Given the description of an element on the screen output the (x, y) to click on. 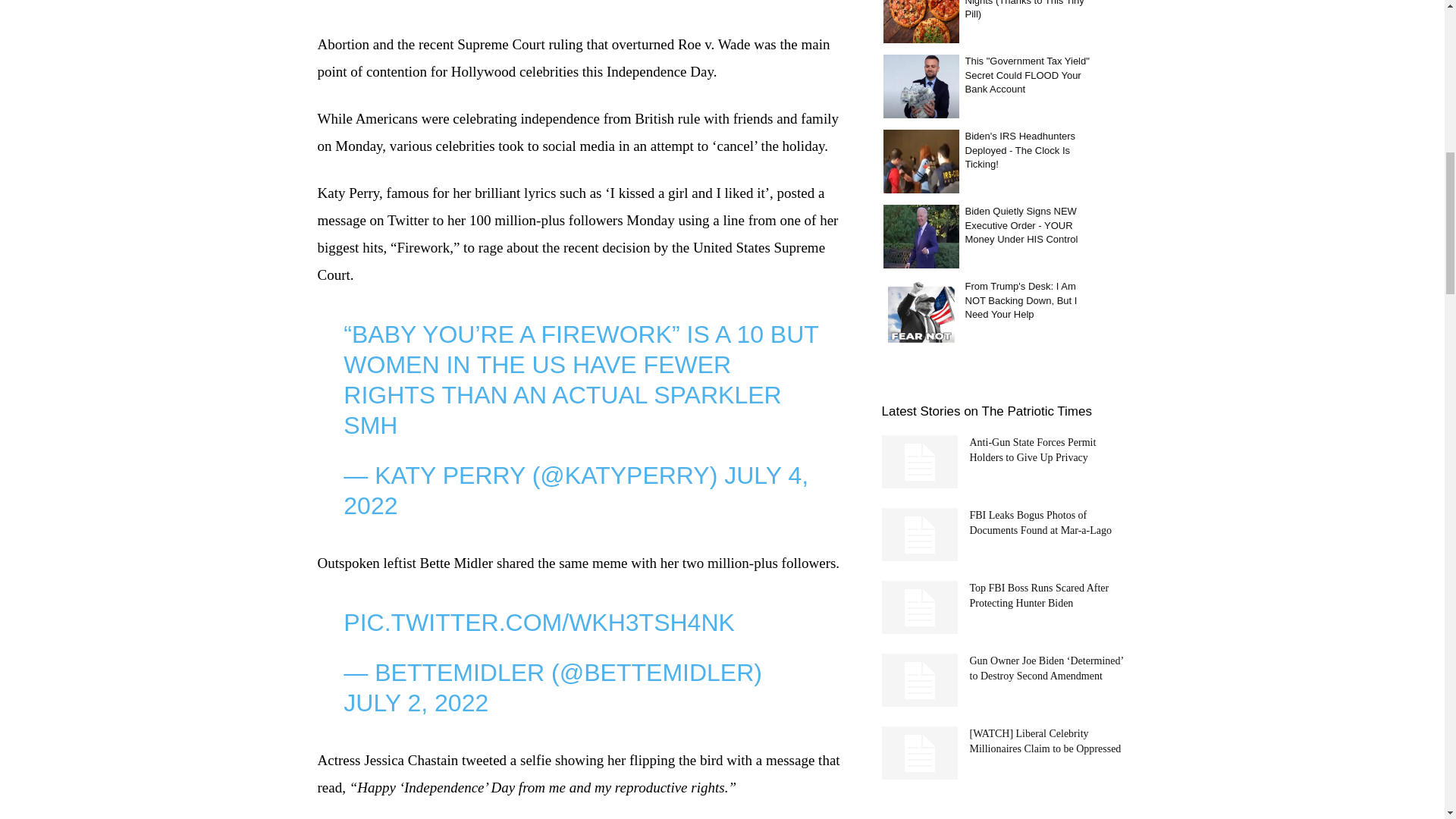
Top FBI Boss Runs Scared After Protecting Hunter Biden (918, 606)
Anti-Gun State Forces Permit Holders to Give Up Privacy (1032, 449)
FBI Leaks Bogus Photos of Documents Found at Mar-a-Lago (918, 534)
This  (920, 85)
Biden's IRS Headhunters Deployed - The Clock Is Ticking! (920, 160)
JULY 2, 2022 (415, 702)
JULY 4, 2022 (575, 490)
FBI Leaks Bogus Photos of Documents Found at Mar-a-Lago (1040, 522)
Anti-Gun State Forces Permit Holders to Give Up Privacy (918, 461)
